Given the description of an element on the screen output the (x, y) to click on. 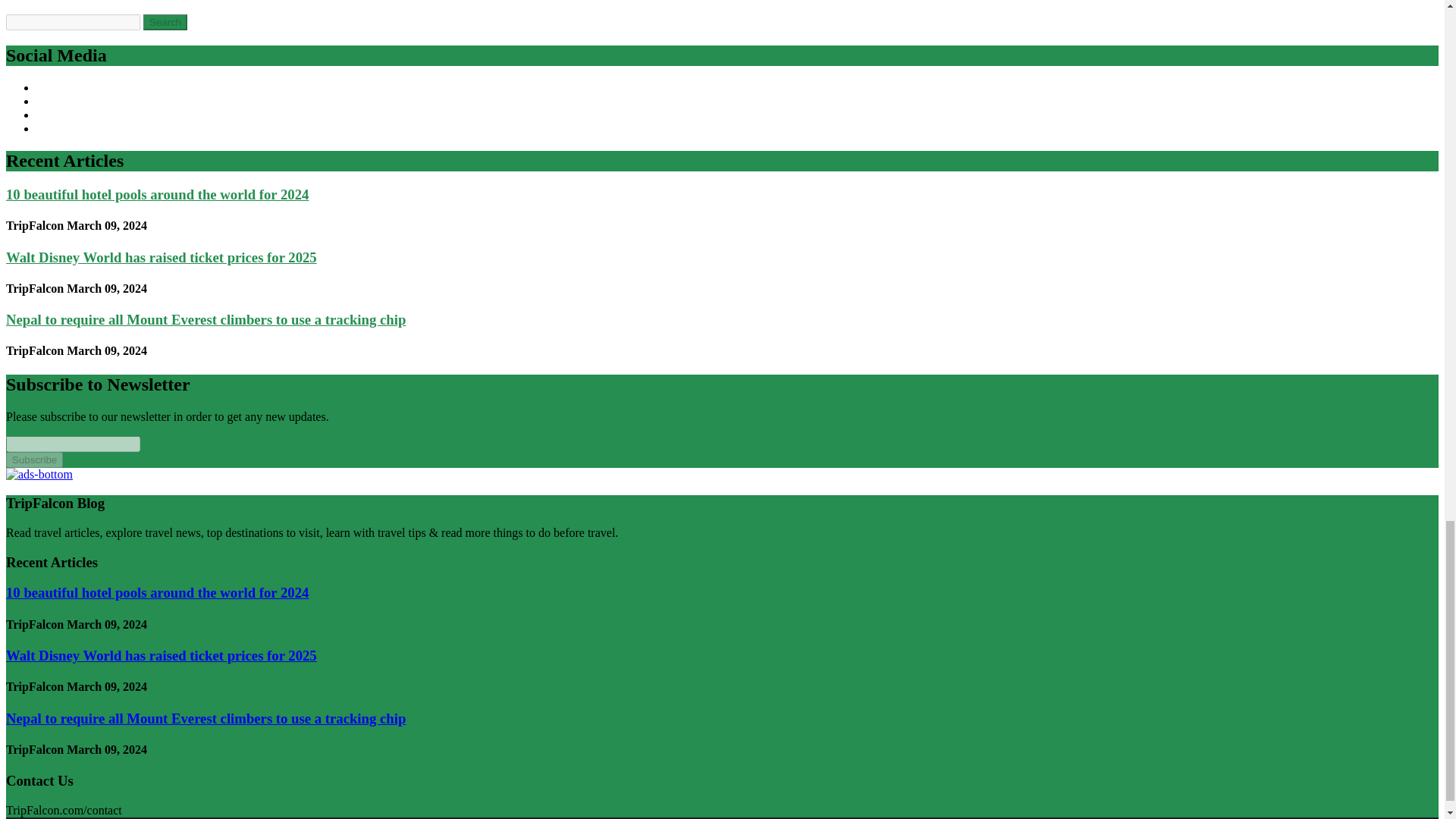
10 beautiful hotel pools around the world for 2024 (156, 592)
Walt Disney World has raised ticket prices for 2025 (161, 655)
Search (164, 22)
Subscribe (33, 459)
Search (164, 22)
10 beautiful hotel pools around the world for 2024 (156, 194)
Subscribe (33, 459)
Walt Disney World has raised ticket prices for 2025 (161, 257)
